Given the description of an element on the screen output the (x, y) to click on. 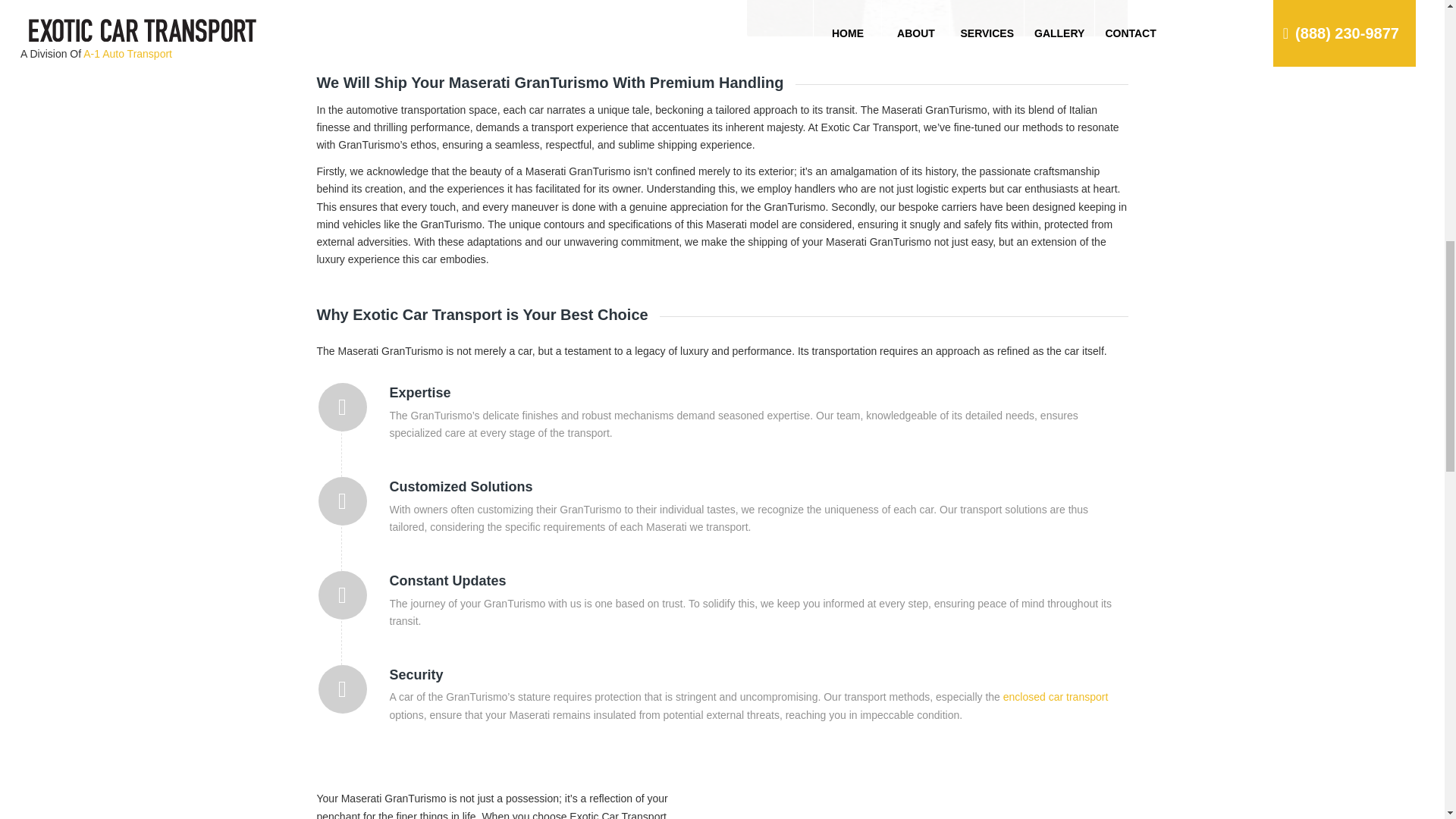
pexels-alex-kad-11352135 (937, 800)
enclosed car transport (1055, 696)
